Given the description of an element on the screen output the (x, y) to click on. 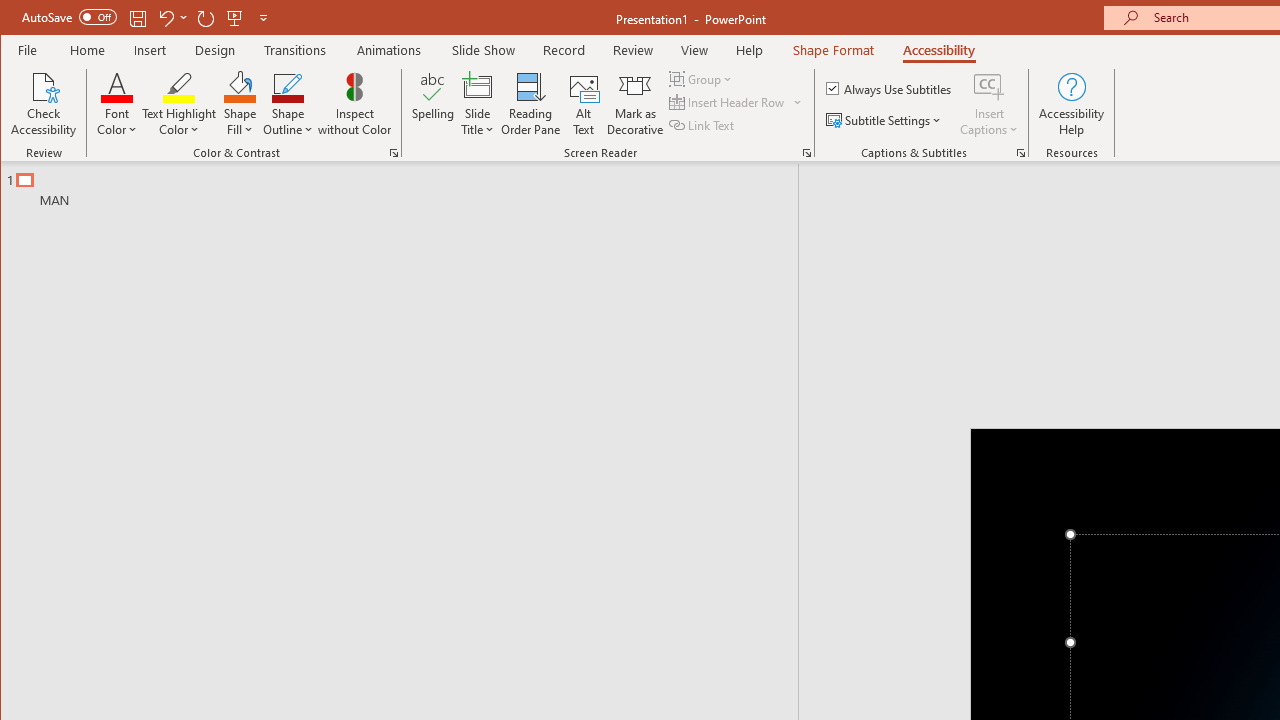
Subtitle Settings (885, 119)
Captions & Subtitles (1020, 152)
Mark as Decorative (635, 104)
